Given the description of an element on the screen output the (x, y) to click on. 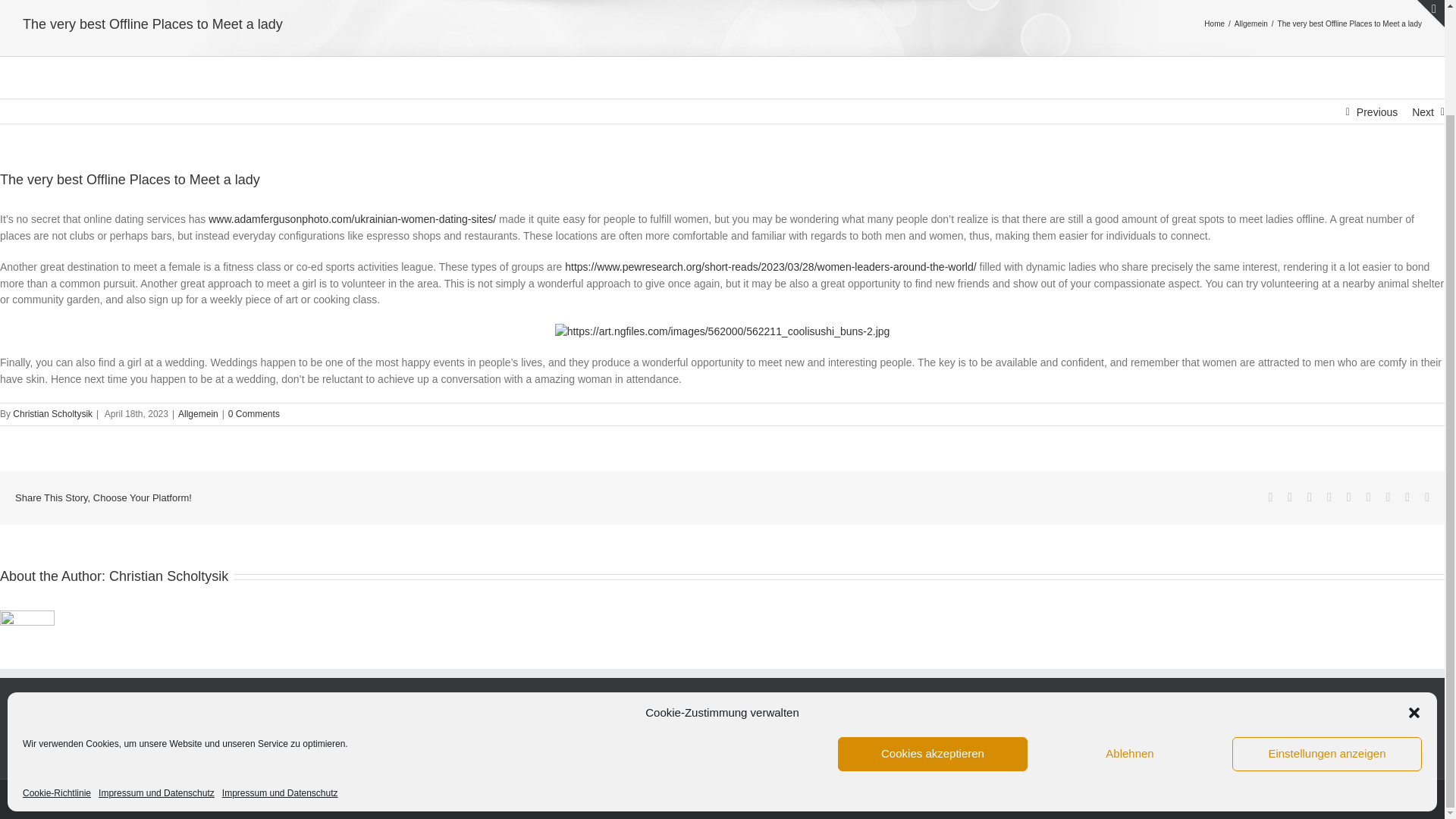
Einstellungen anzeigen (1326, 631)
Cookies akzeptieren (932, 631)
Allgemein (1251, 23)
Cookie-Richtlinie (56, 670)
Impressum und Datenschutz (156, 670)
Ablehnen (1129, 631)
Home (1214, 23)
Impressum und Datenschutz (279, 670)
